Given the description of an element on the screen output the (x, y) to click on. 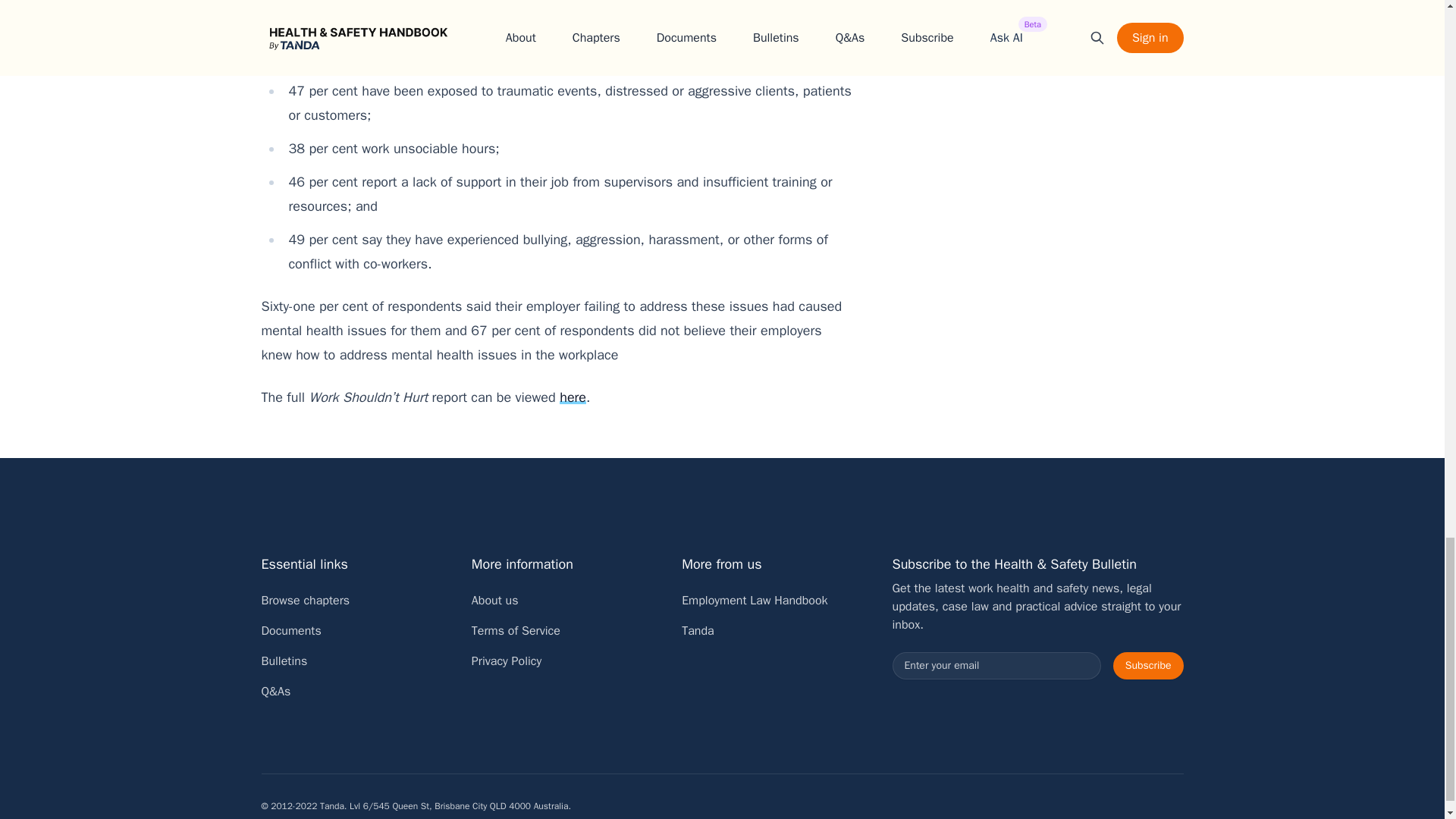
Documents (290, 630)
Privacy Policy (506, 661)
Tanda (697, 630)
here (572, 397)
Browse chapters (304, 600)
Bulletins (283, 661)
Terms of Service (515, 630)
About us (494, 600)
Employment Law Handbook (754, 600)
Subscribe (1148, 665)
